Given the description of an element on the screen output the (x, y) to click on. 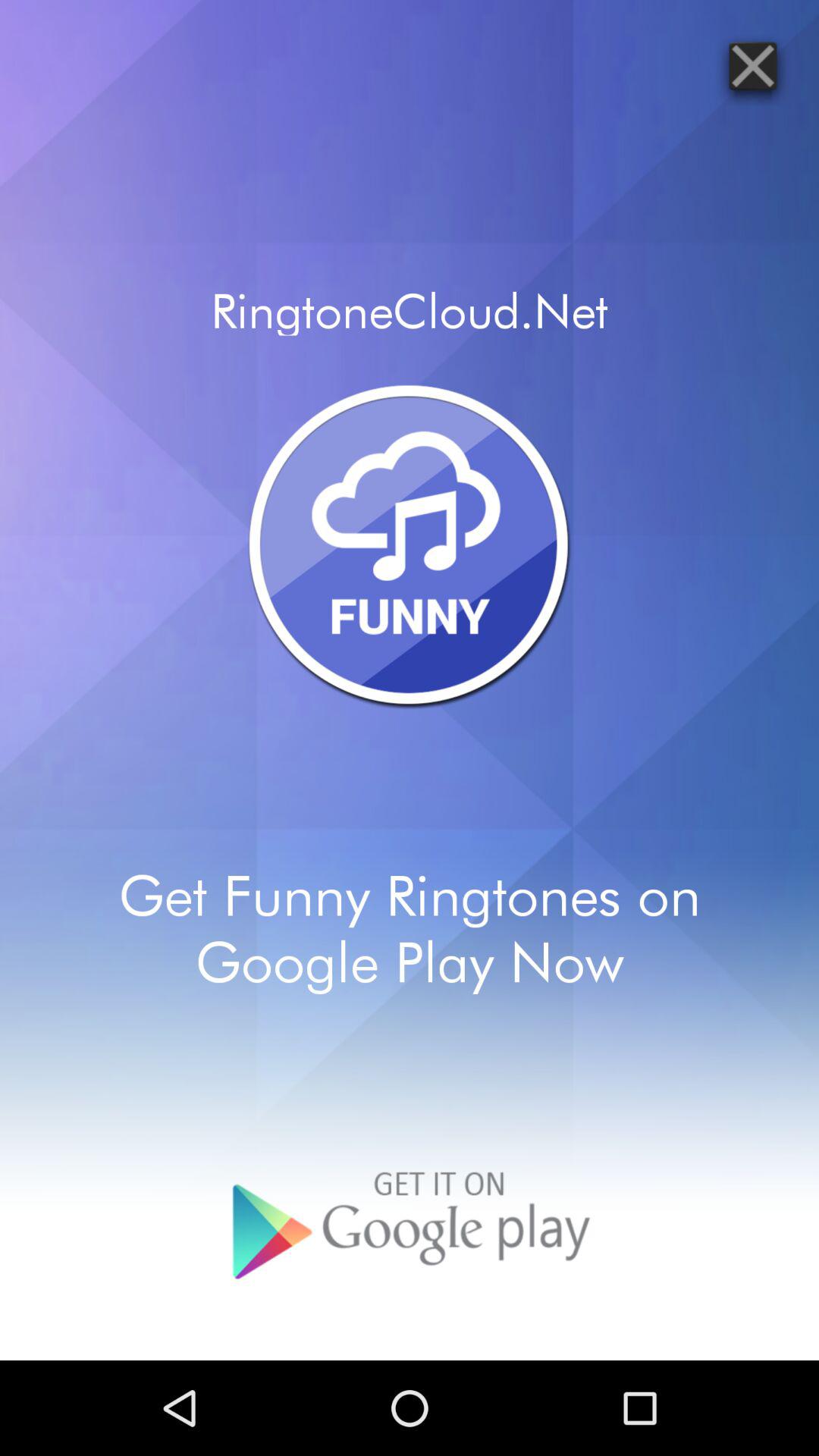
close (752, 65)
